Given the description of an element on the screen output the (x, y) to click on. 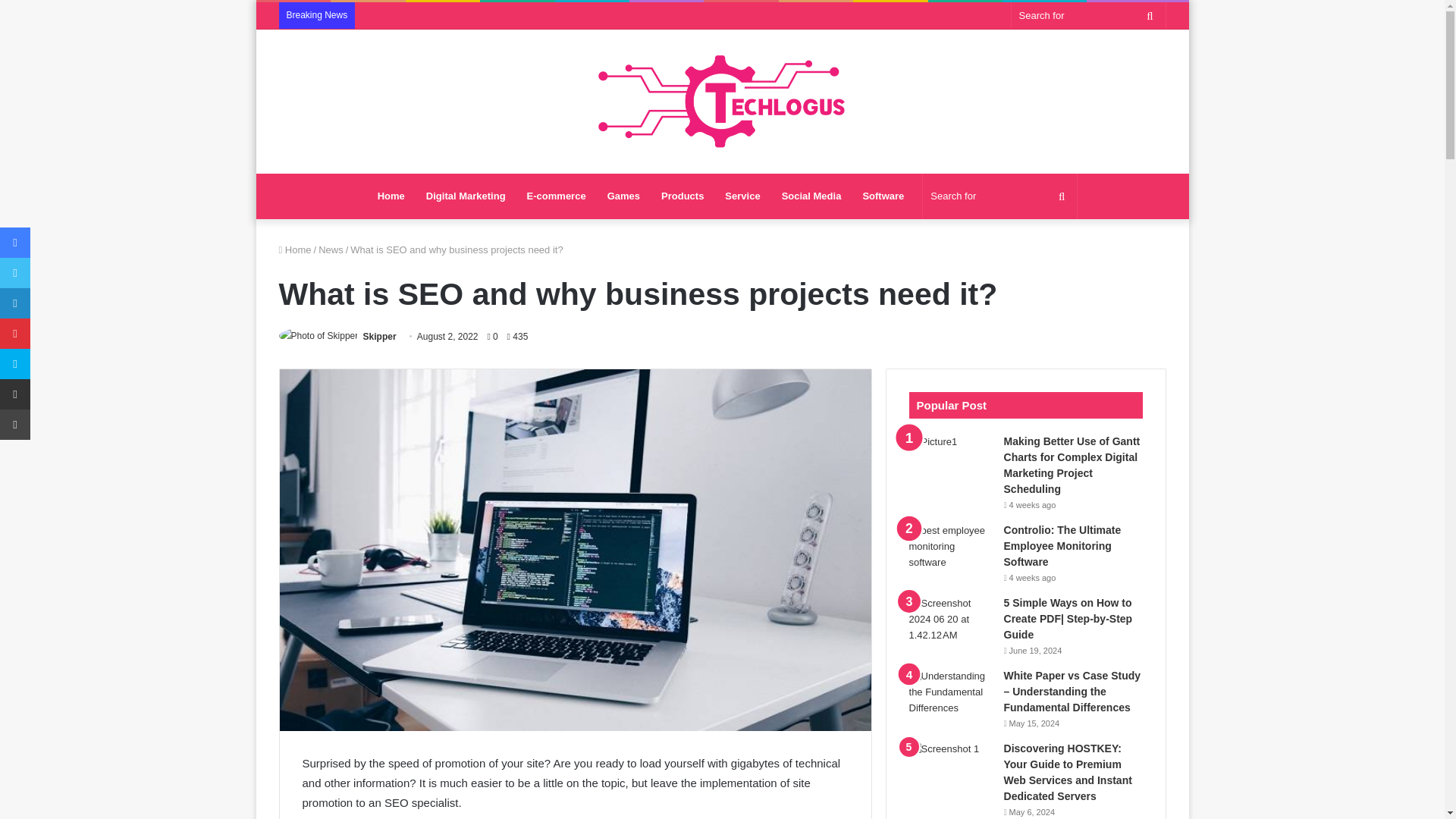
Home (295, 249)
Social Media (811, 196)
Digital Marketing (465, 196)
Service (742, 196)
News (330, 249)
Techlogus.com (722, 101)
Products (682, 196)
Search for (1000, 196)
E-commerce (556, 196)
Search for (1149, 15)
Software (882, 196)
Games (623, 196)
Skipper (379, 336)
Skipper (379, 336)
Home (390, 196)
